Given the description of an element on the screen output the (x, y) to click on. 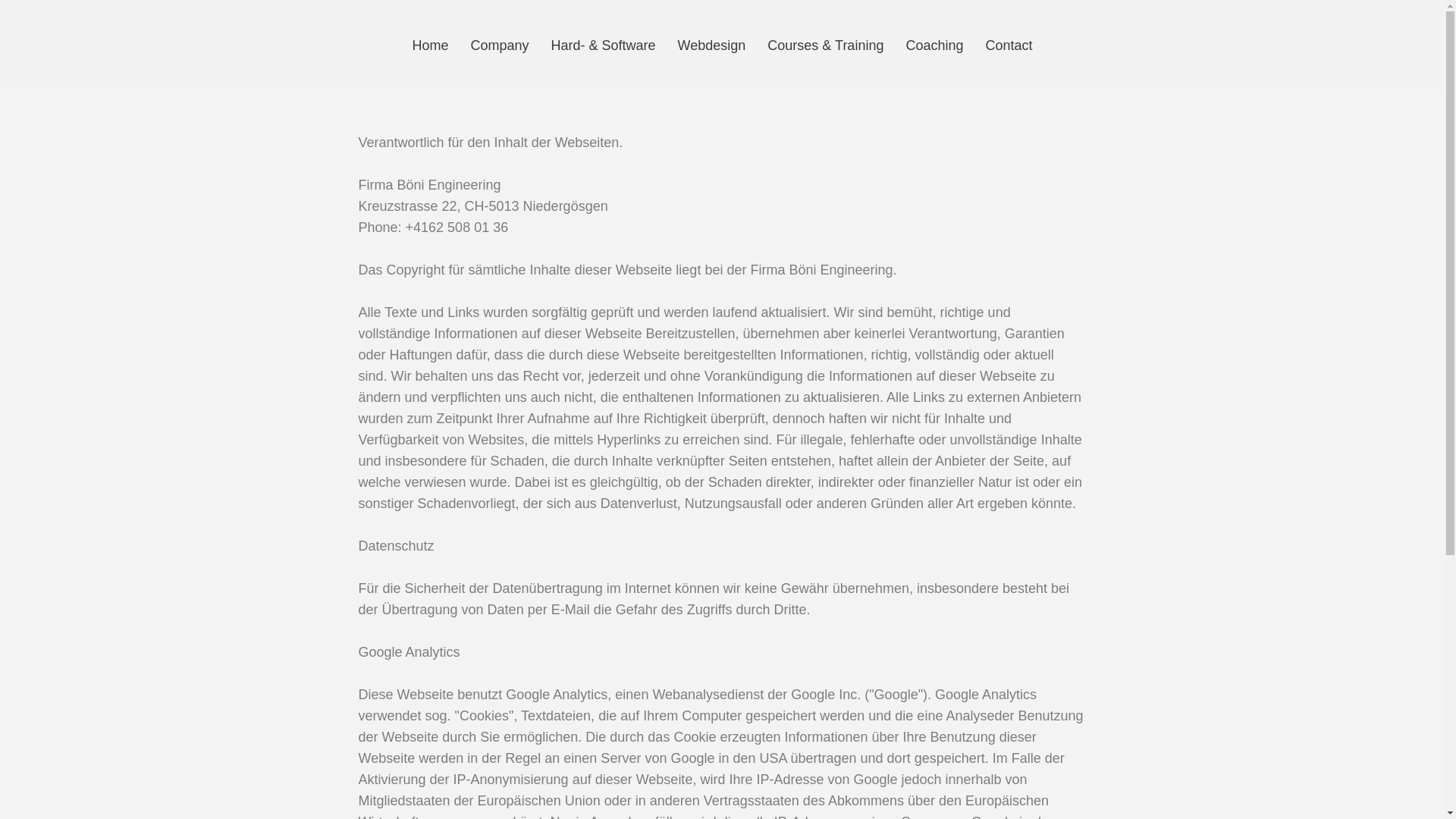
Company Element type: text (499, 45)
Courses & Training Element type: text (825, 45)
Webdesign Element type: text (711, 45)
Coaching Element type: text (934, 45)
Contact Element type: text (1008, 45)
Hard- & Software Element type: text (603, 45)
Home Element type: text (429, 45)
